Given the description of an element on the screen output the (x, y) to click on. 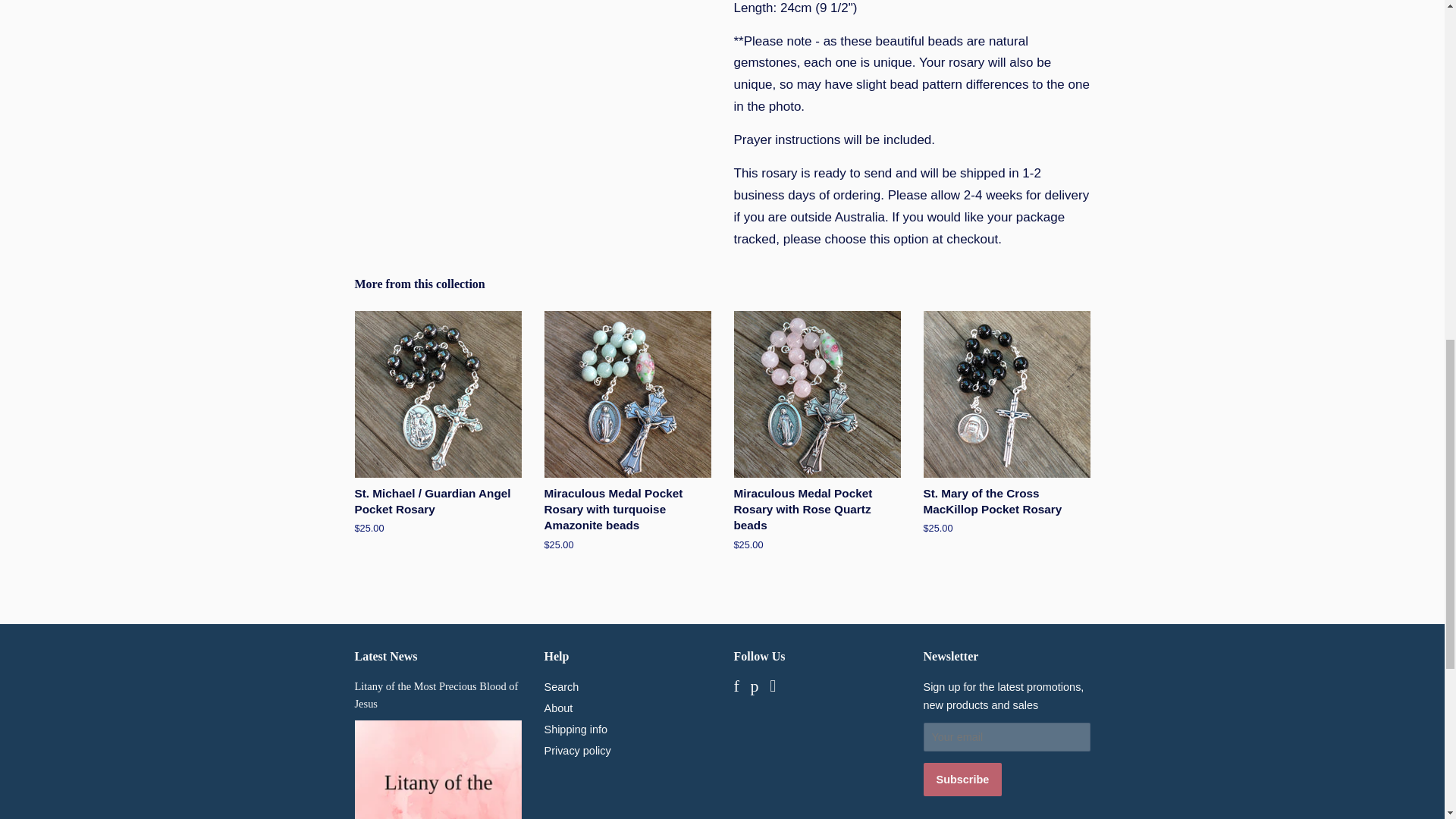
Subscribe (963, 779)
